Given the description of an element on the screen output the (x, y) to click on. 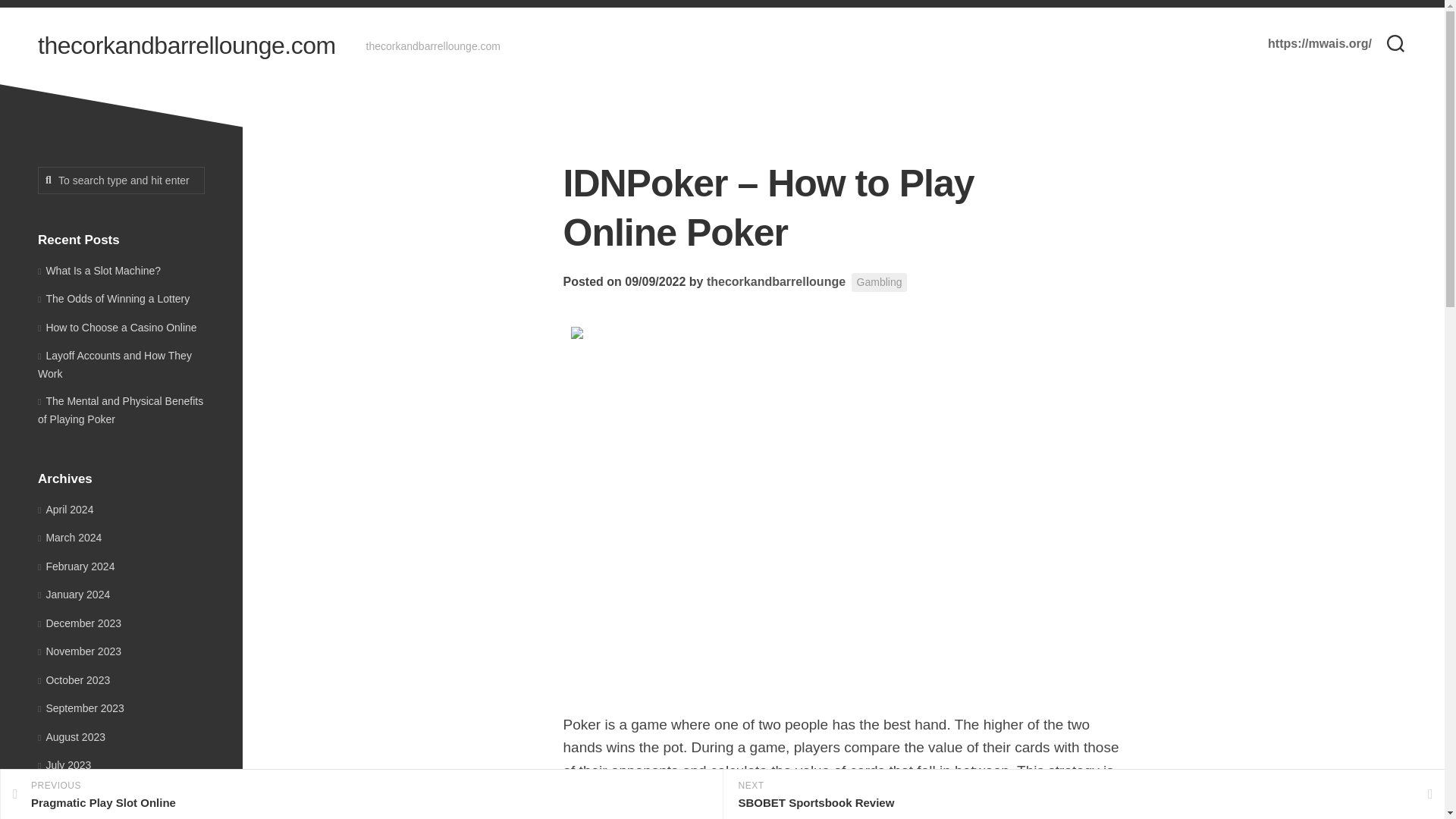
The Mental and Physical Benefits of Playing Poker (120, 409)
Gambling (361, 794)
December 2023 (879, 281)
September 2023 (78, 623)
To search type and hit enter (80, 707)
The Odds of Winning a Lottery (121, 180)
May 2023 (113, 298)
October 2023 (65, 817)
thecorkandbarrellounge (73, 679)
